Given the description of an element on the screen output the (x, y) to click on. 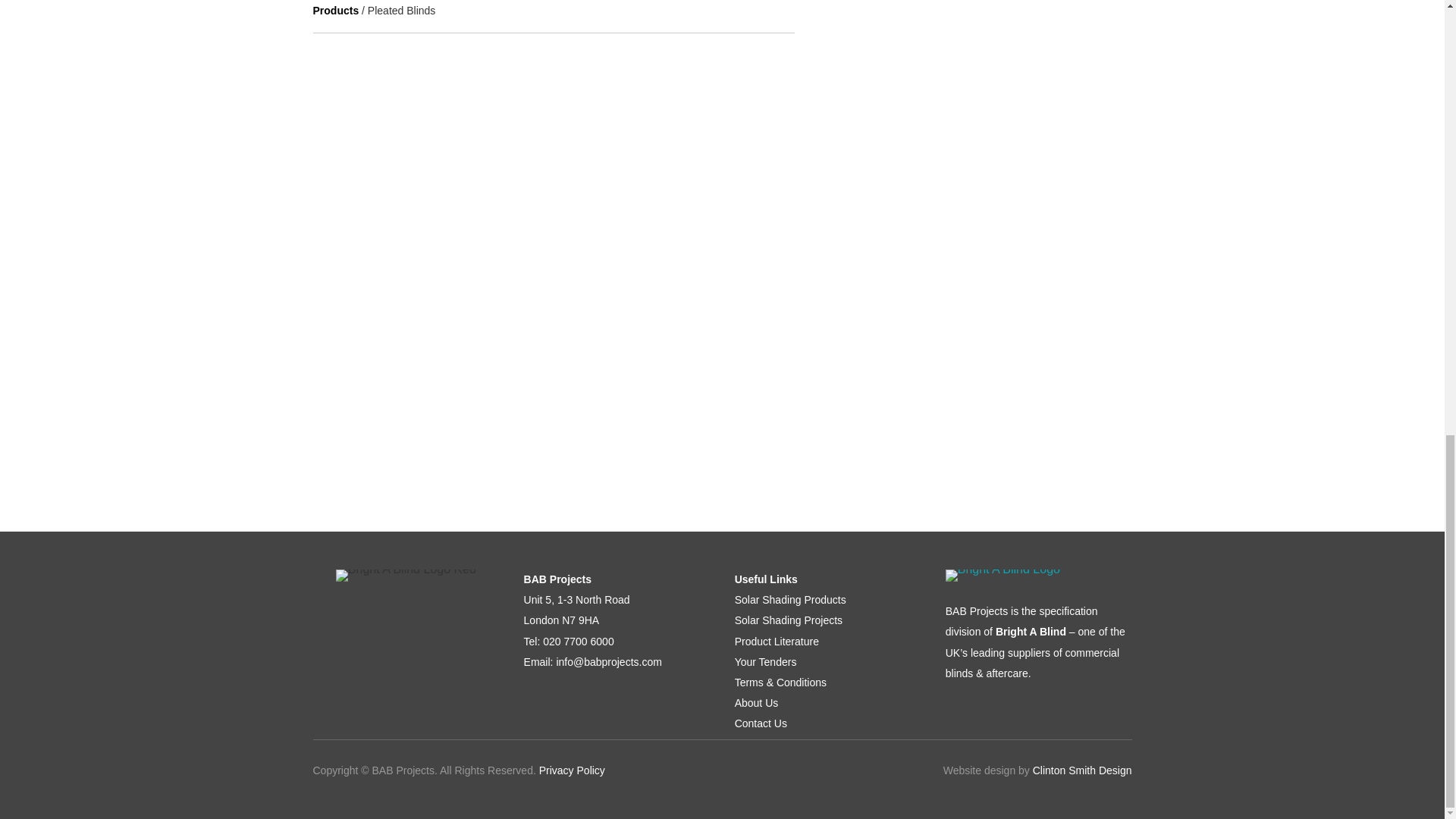
Bright A Blind Logo (1001, 575)
Bright A Blind Logo Red (406, 575)
